Given the description of an element on the screen output the (x, y) to click on. 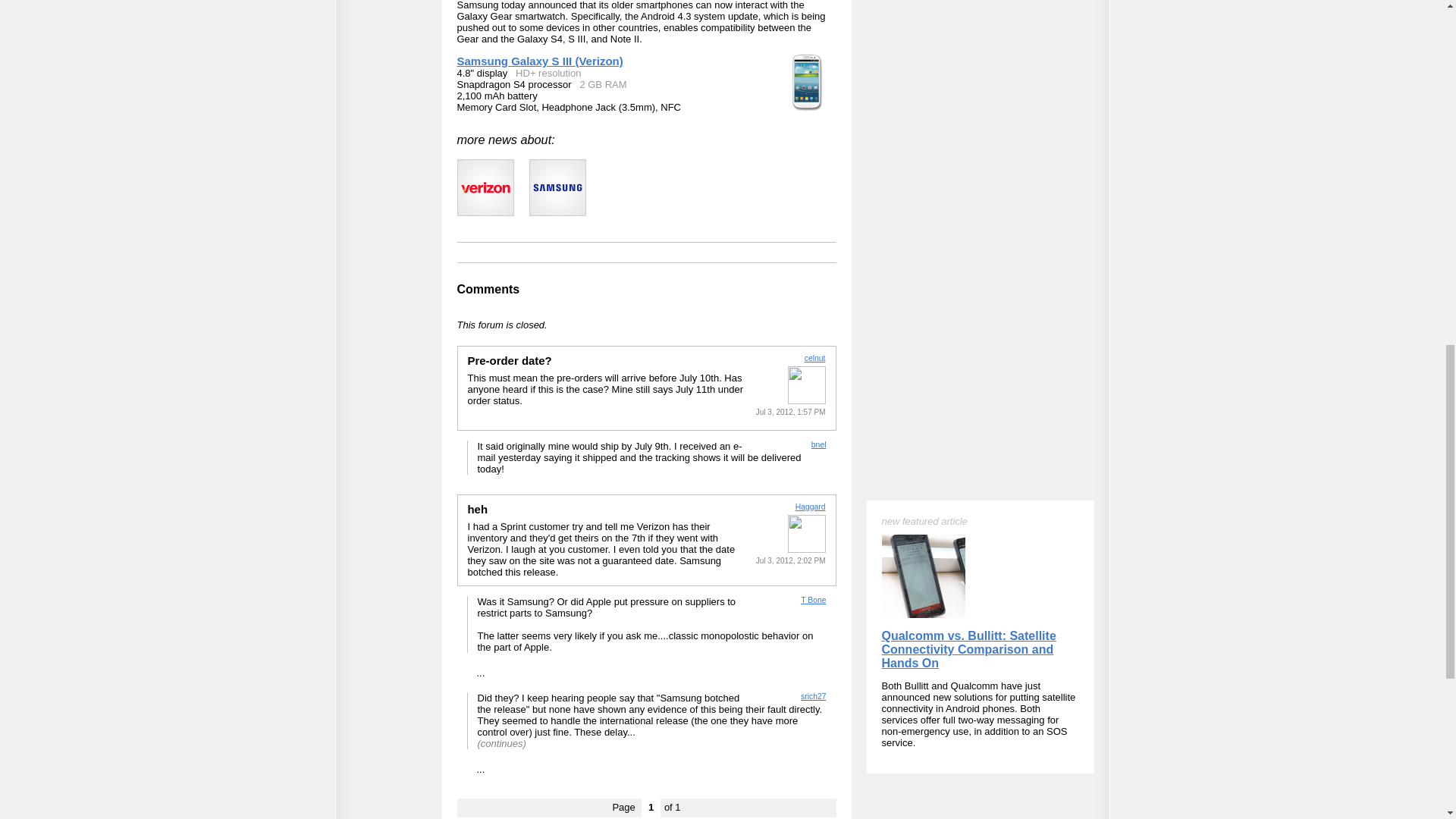
srich27 (813, 696)
celnut (815, 357)
Comments (488, 288)
Samsung (557, 187)
Verizon (485, 187)
Haggard (809, 506)
T Bone (812, 600)
bnel (818, 444)
